Given the description of an element on the screen output the (x, y) to click on. 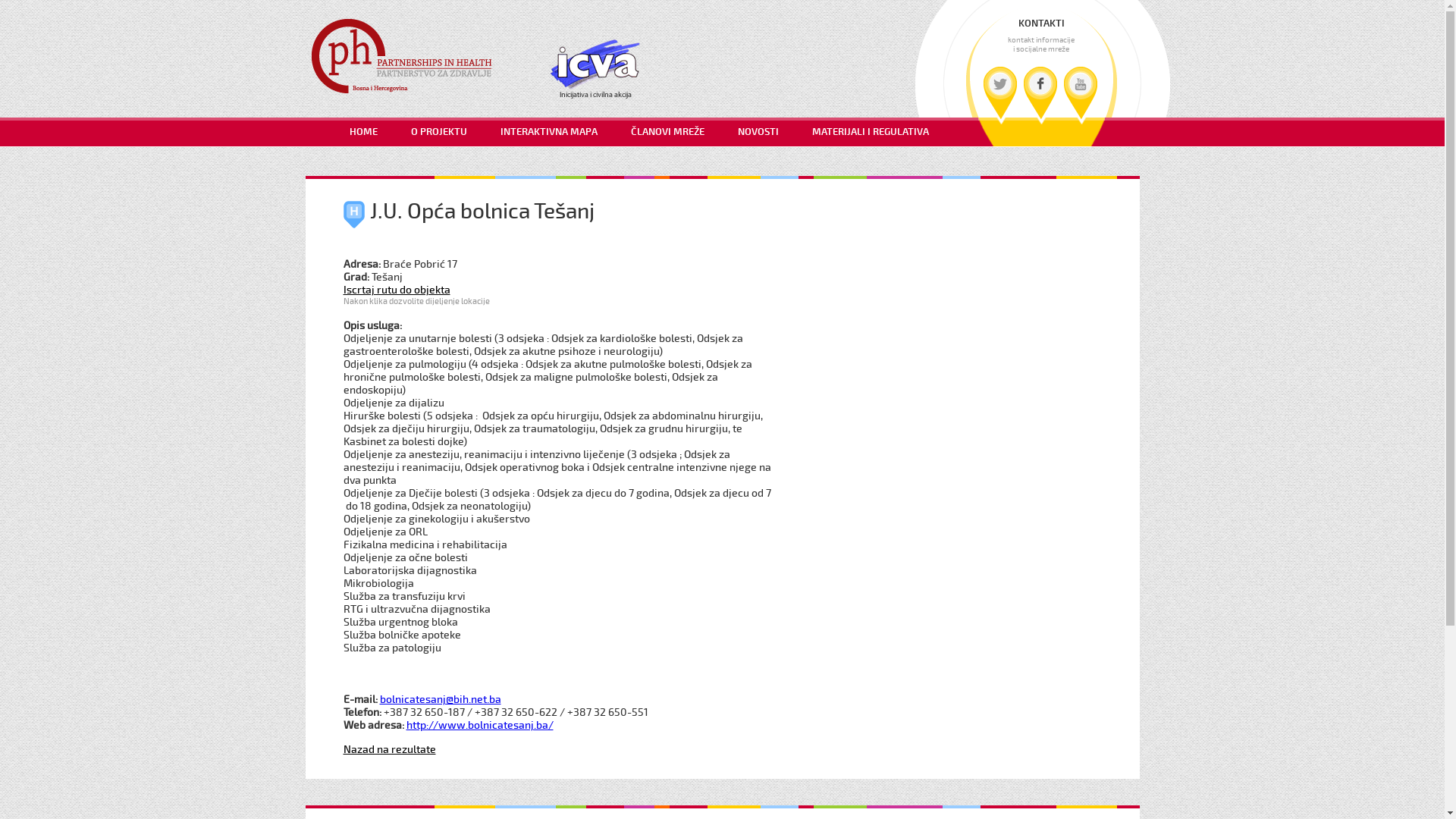
Inicijativna i civilna akcija Element type: hover (595, 69)
MATERIJALI I REGULATIVA Element type: text (869, 133)
Twitter Element type: hover (999, 92)
Facebook Element type: hover (1040, 92)
bolnicatesanj@bih.net.ba Element type: text (439, 699)
O PROJEKTU Element type: text (439, 133)
KONTAKTI Element type: text (1041, 24)
Nazad na rezultate Element type: text (388, 749)
INTERAKTIVNA MAPA Element type: text (548, 133)
HOME Element type: text (362, 133)
NOVOSTI Element type: text (757, 133)
http://www.bolnicatesanj.ba/ Element type: text (479, 724)
Youtube Element type: hover (1079, 92)
Iscrtaj rutu do objekta Element type: text (395, 289)
